Given the description of an element on the screen output the (x, y) to click on. 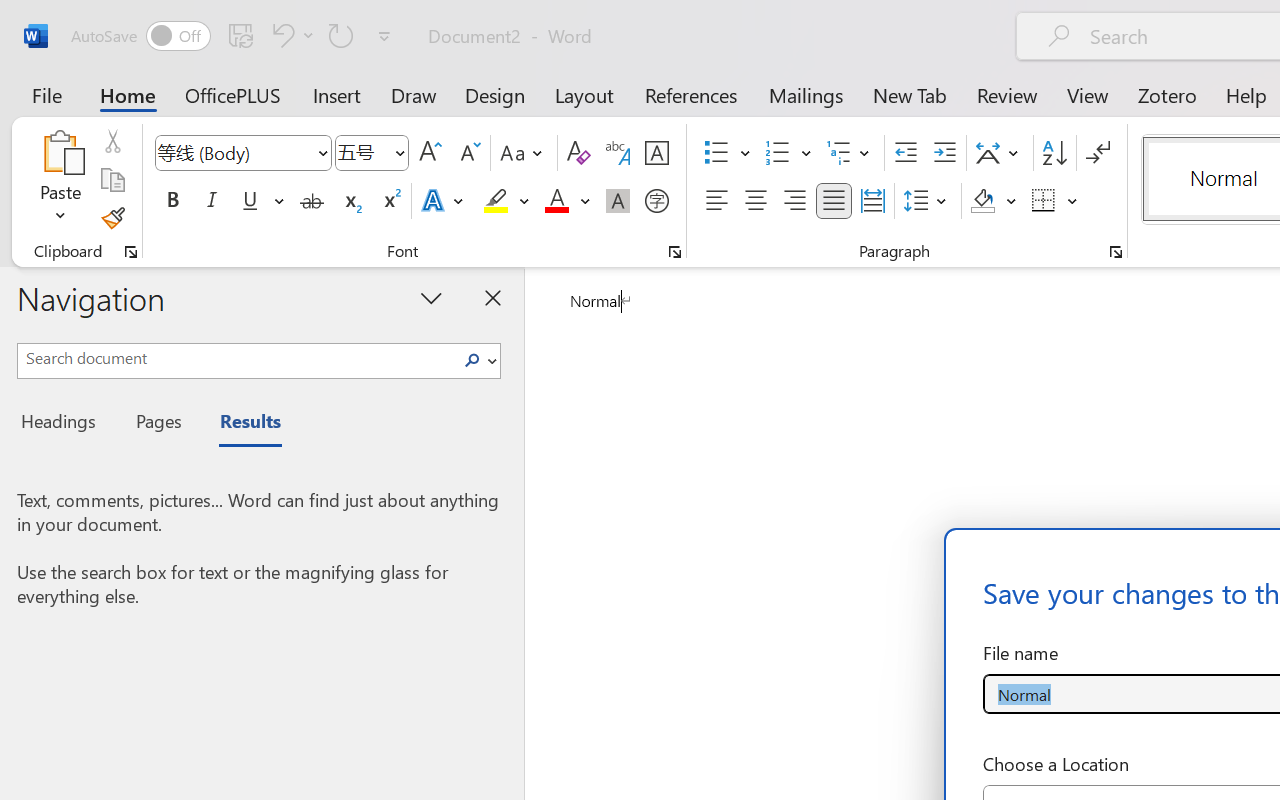
Bold (172, 201)
Distributed (872, 201)
Mailings (806, 94)
Character Shading (618, 201)
Save (241, 35)
Character Border (656, 153)
Copy (112, 179)
Cut (112, 141)
Task Pane Options (431, 297)
Customize Quick Access Toolbar (384, 35)
Strikethrough (312, 201)
